Given the description of an element on the screen output the (x, y) to click on. 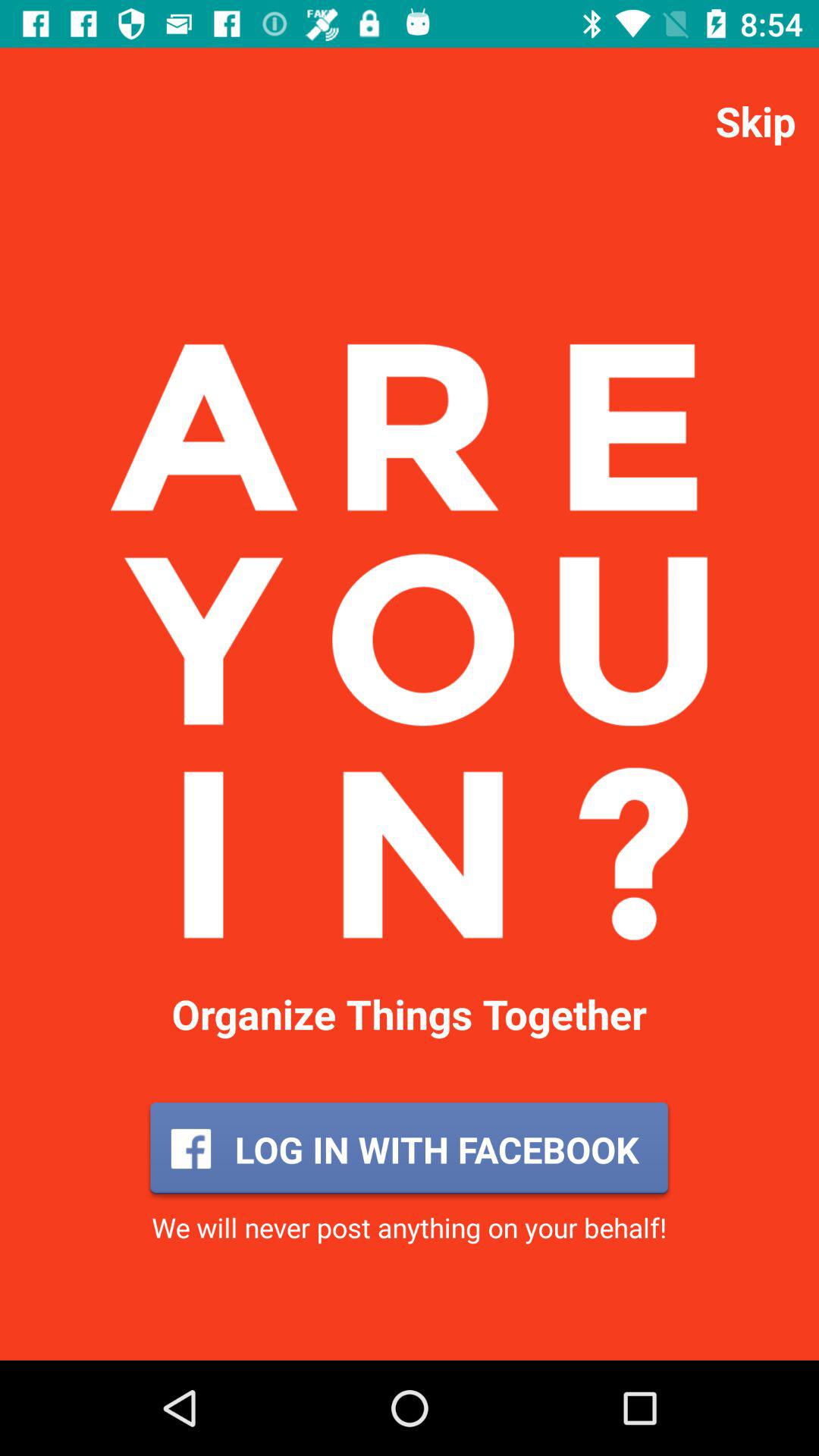
tap the item at the top right corner (755, 120)
